Given the description of an element on the screen output the (x, y) to click on. 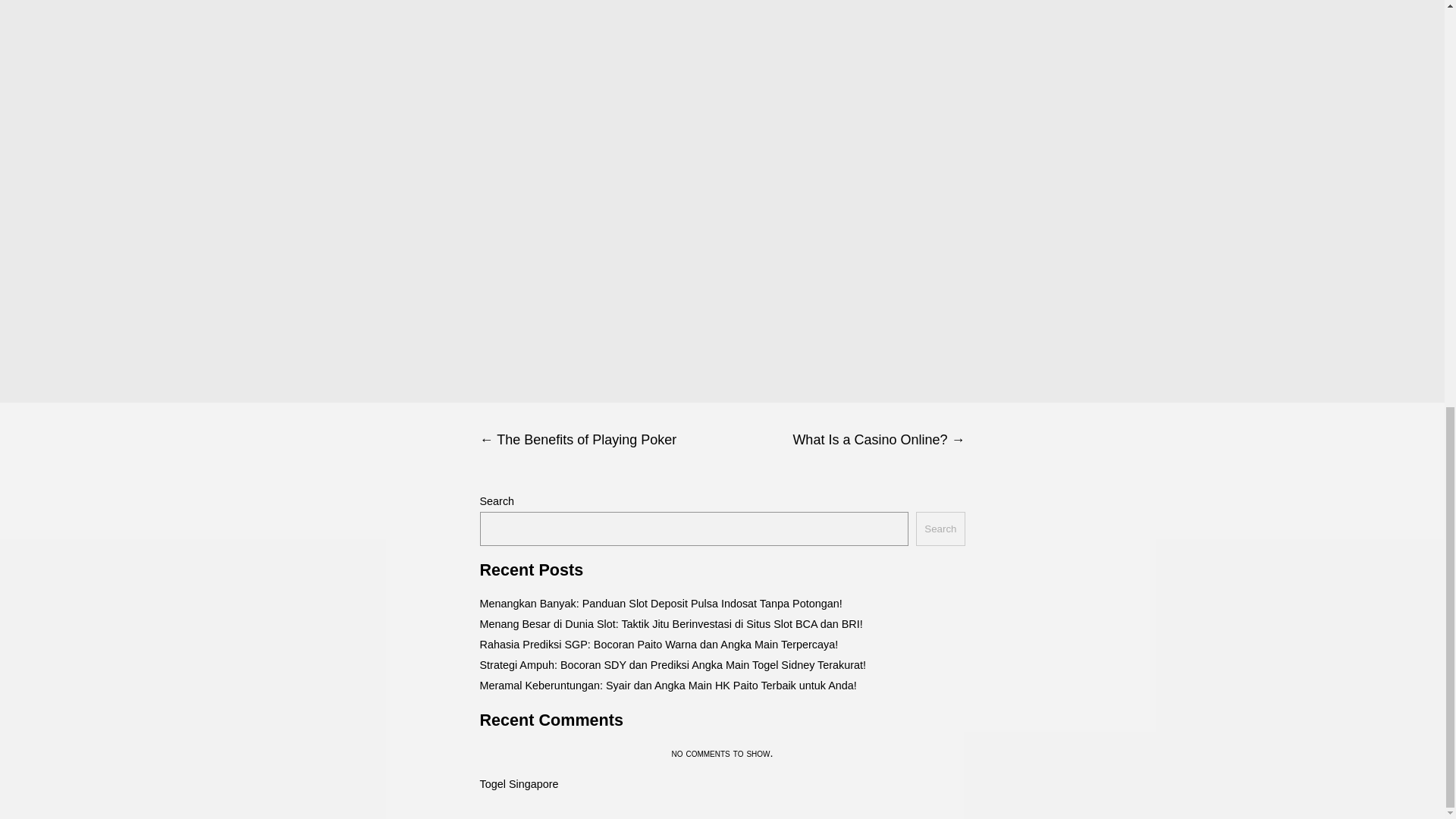
What Is a Casino Online? (842, 439)
Search (939, 528)
The Benefits of Playing Poker (600, 439)
Togel Singapore (518, 784)
